Given the description of an element on the screen output the (x, y) to click on. 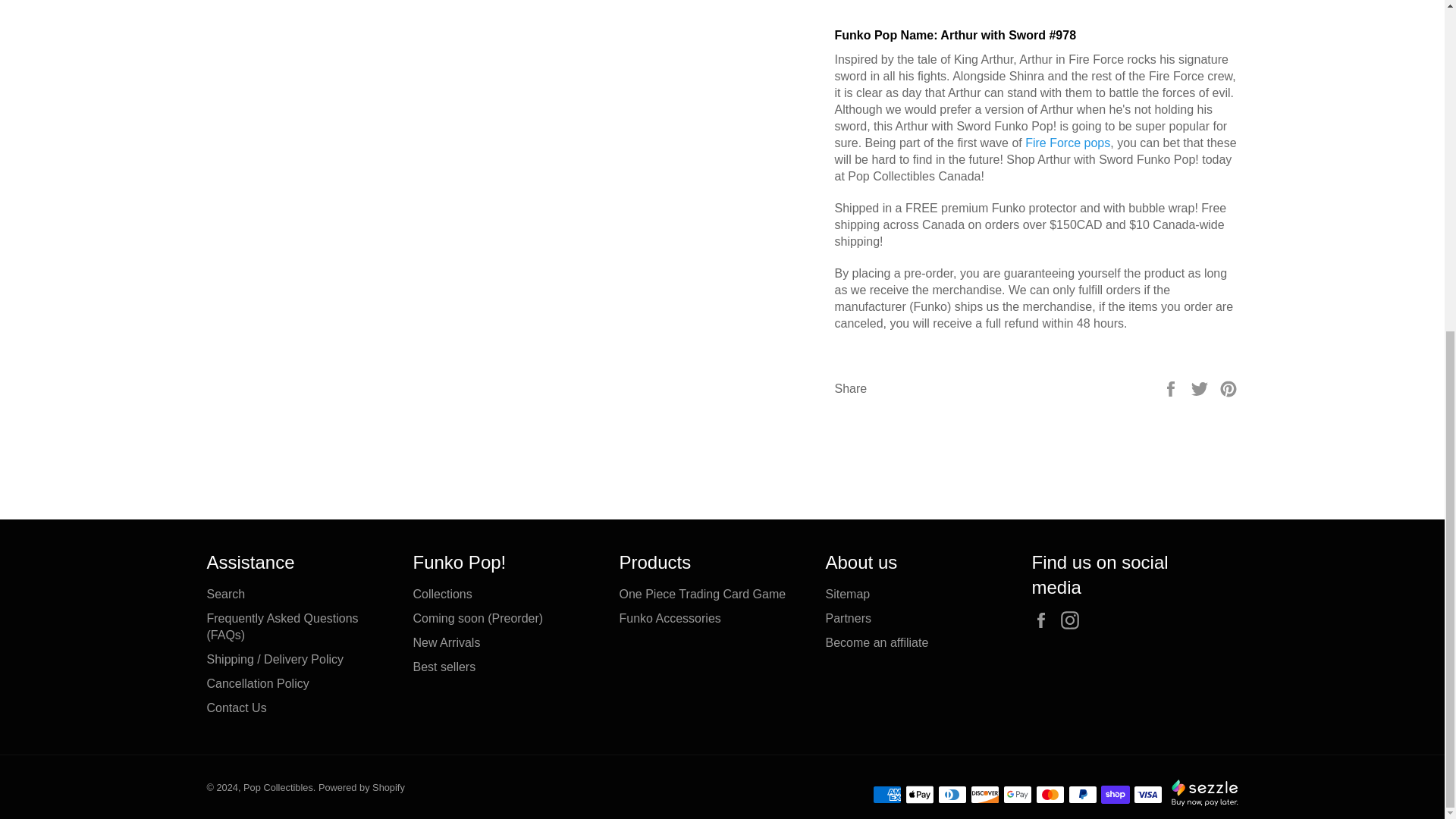
Share on Facebook (1171, 388)
Pop Collectibles on Instagram (1073, 619)
Pop Collectibles on Facebook (1043, 619)
Pin on Pinterest (1228, 388)
Tweet on Twitter (1201, 388)
Fire Force Funko Pops (1067, 142)
